Given the description of an element on the screen output the (x, y) to click on. 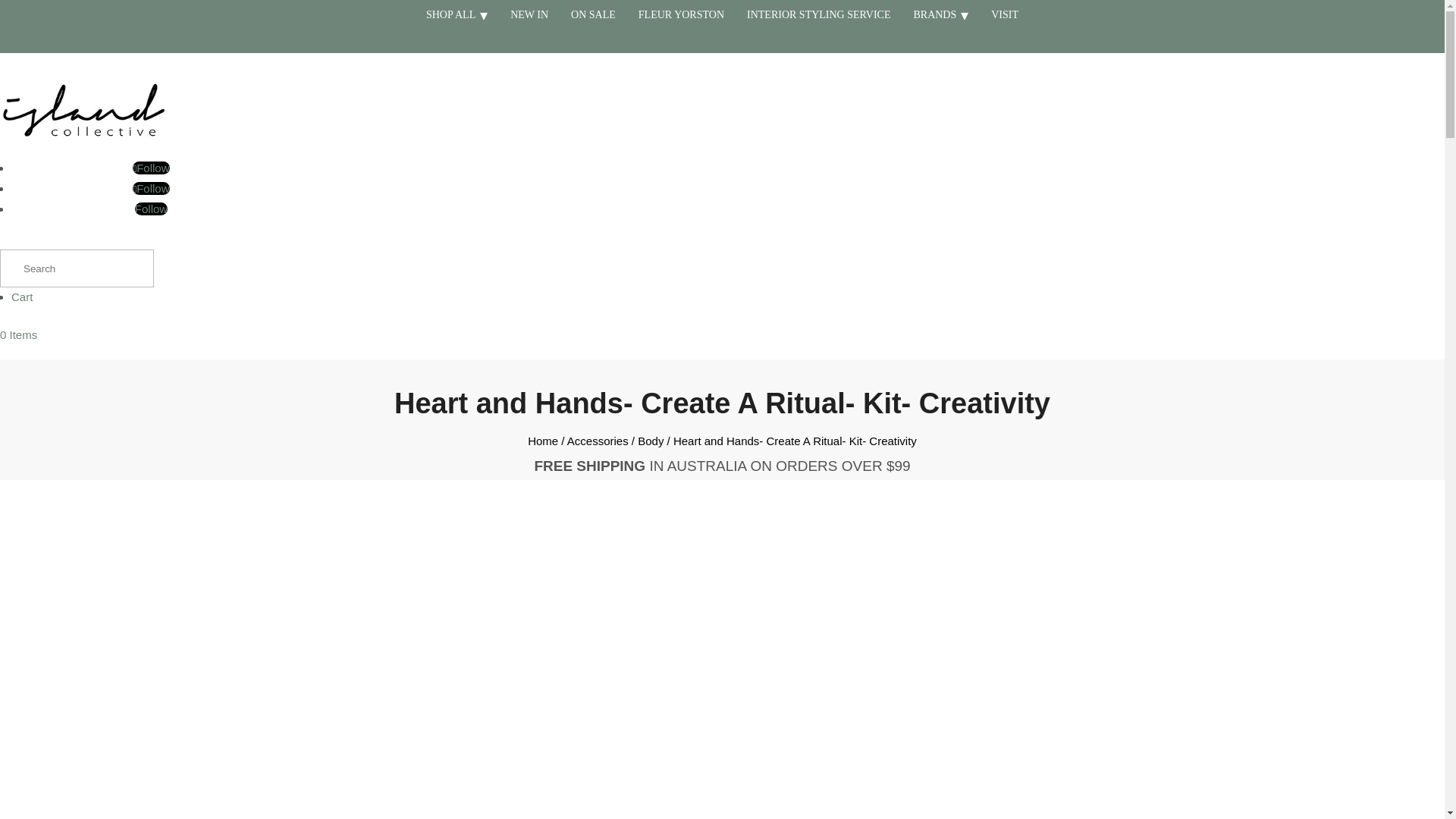
Follow on Facebook (150, 187)
Follow on Instagram (150, 167)
island collective logo 300 (83, 109)
Follow on Pinterest (151, 208)
SHOP ALL (456, 15)
